Given the description of an element on the screen output the (x, y) to click on. 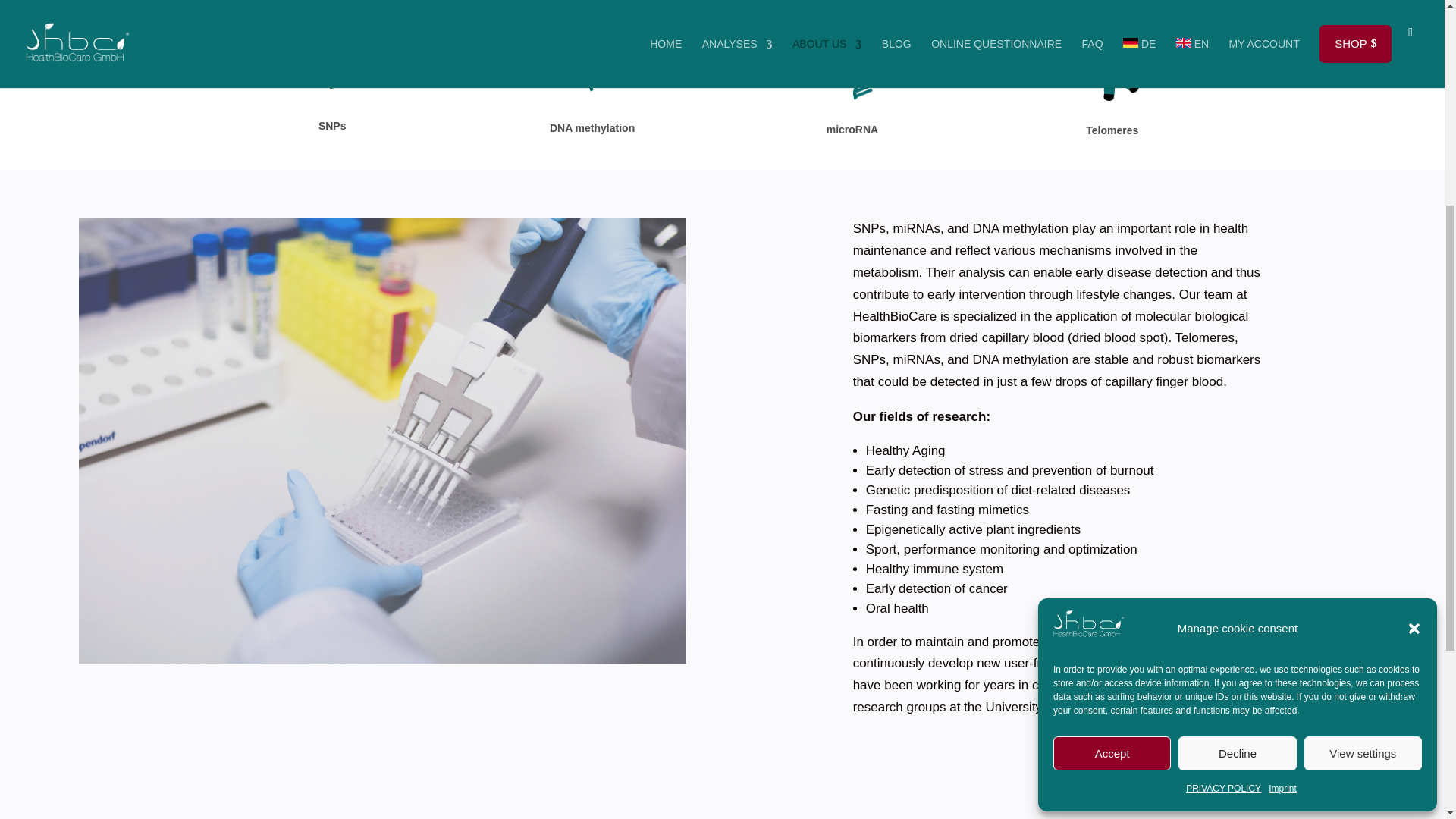
Follow on Instagram (790, 339)
PRIVACY POLICY (1223, 430)
Follow on Facebook (821, 339)
View settings (1363, 394)
footer-bild-neu3 (1111, 323)
Decline (1236, 394)
Follow on LinkedIn (761, 339)
Imprint (1282, 430)
Accept (1111, 394)
